Given the description of an element on the screen output the (x, y) to click on. 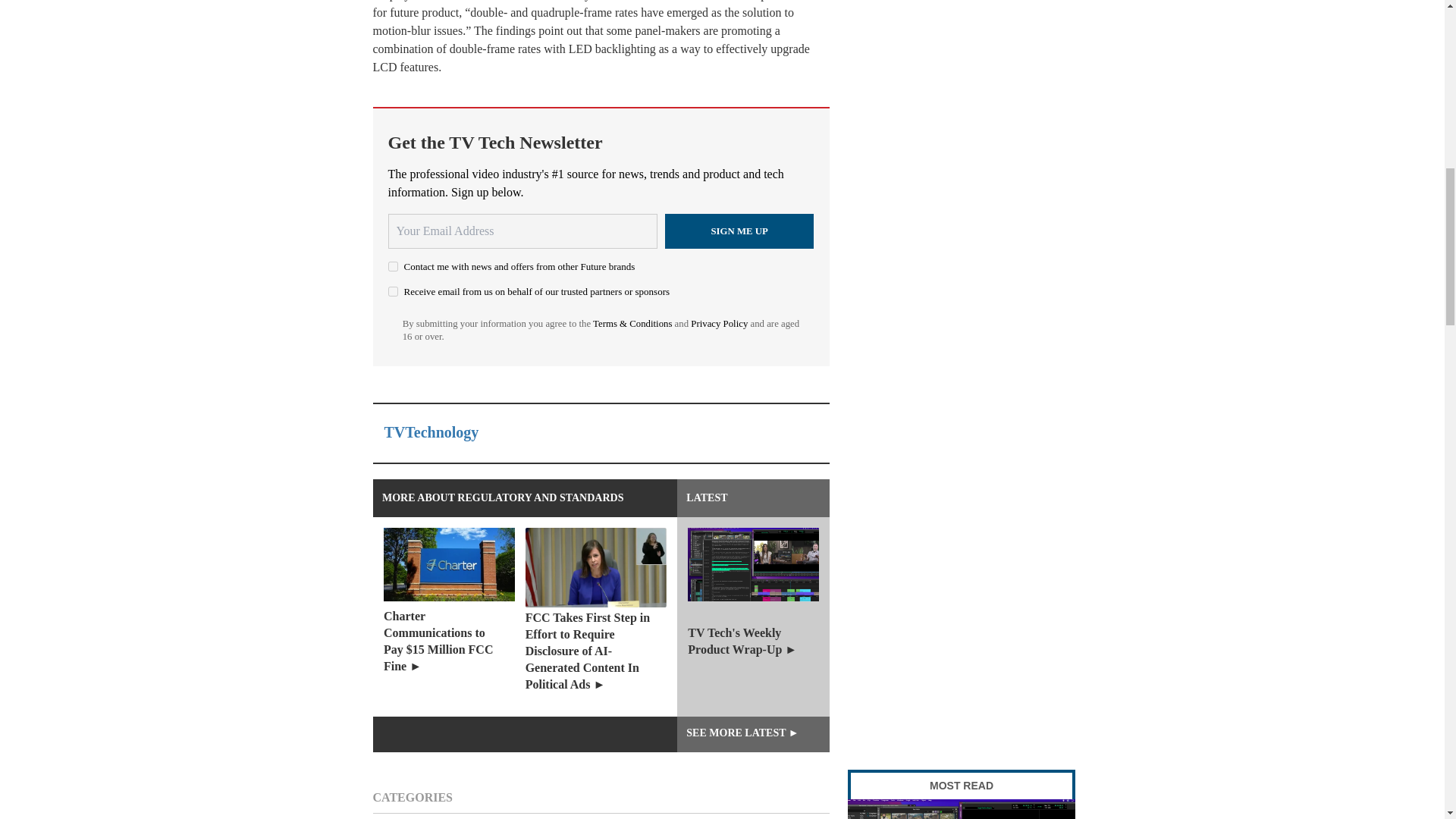
TVTechnology (431, 432)
TV Tech's Weekly Product Wrap-Up (961, 809)
Privacy Policy (719, 323)
on (392, 291)
Sign me up (739, 230)
Sign me up (739, 230)
on (392, 266)
